Given the description of an element on the screen output the (x, y) to click on. 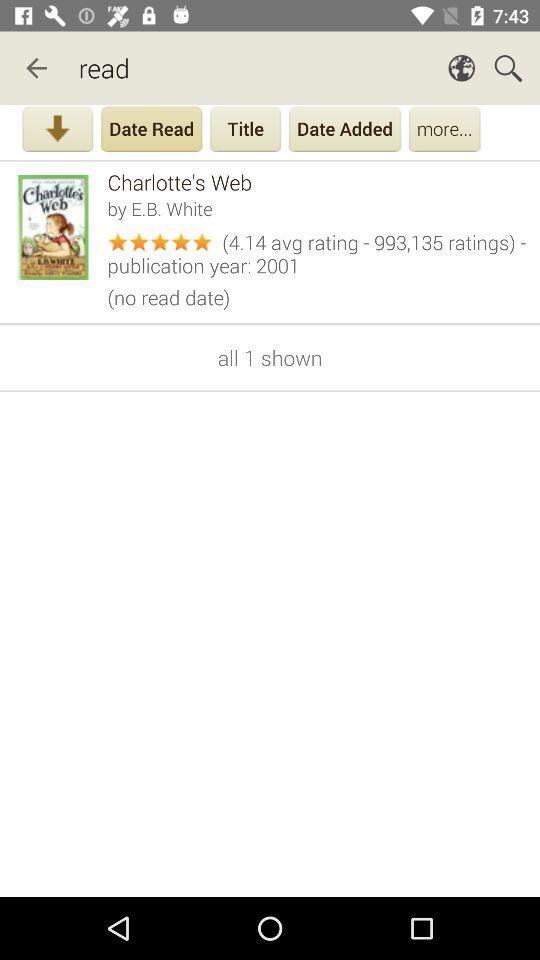
choose date added item (345, 131)
